Given the description of an element on the screen output the (x, y) to click on. 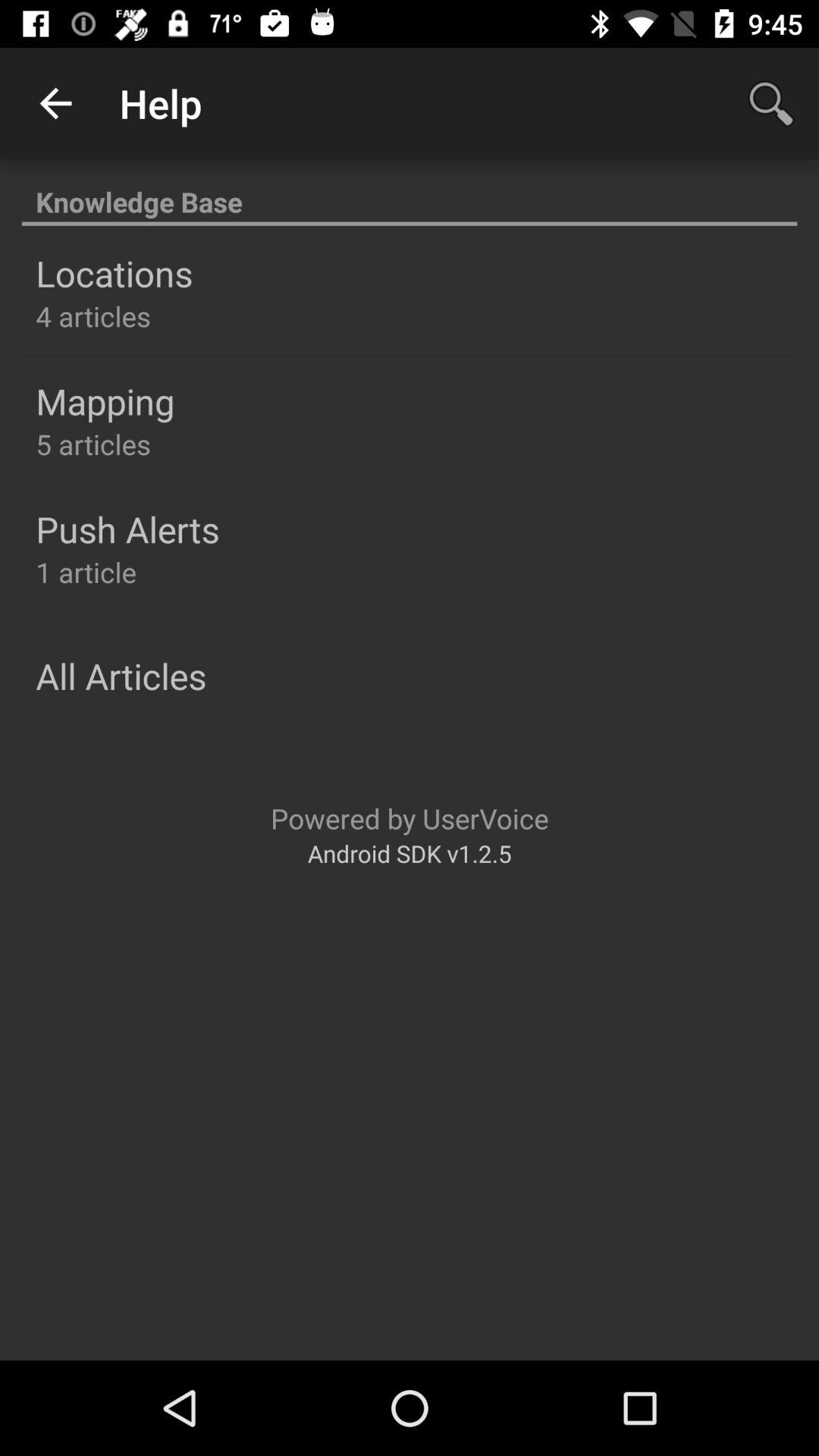
choose item above android sdk v1 item (409, 818)
